Given the description of an element on the screen output the (x, y) to click on. 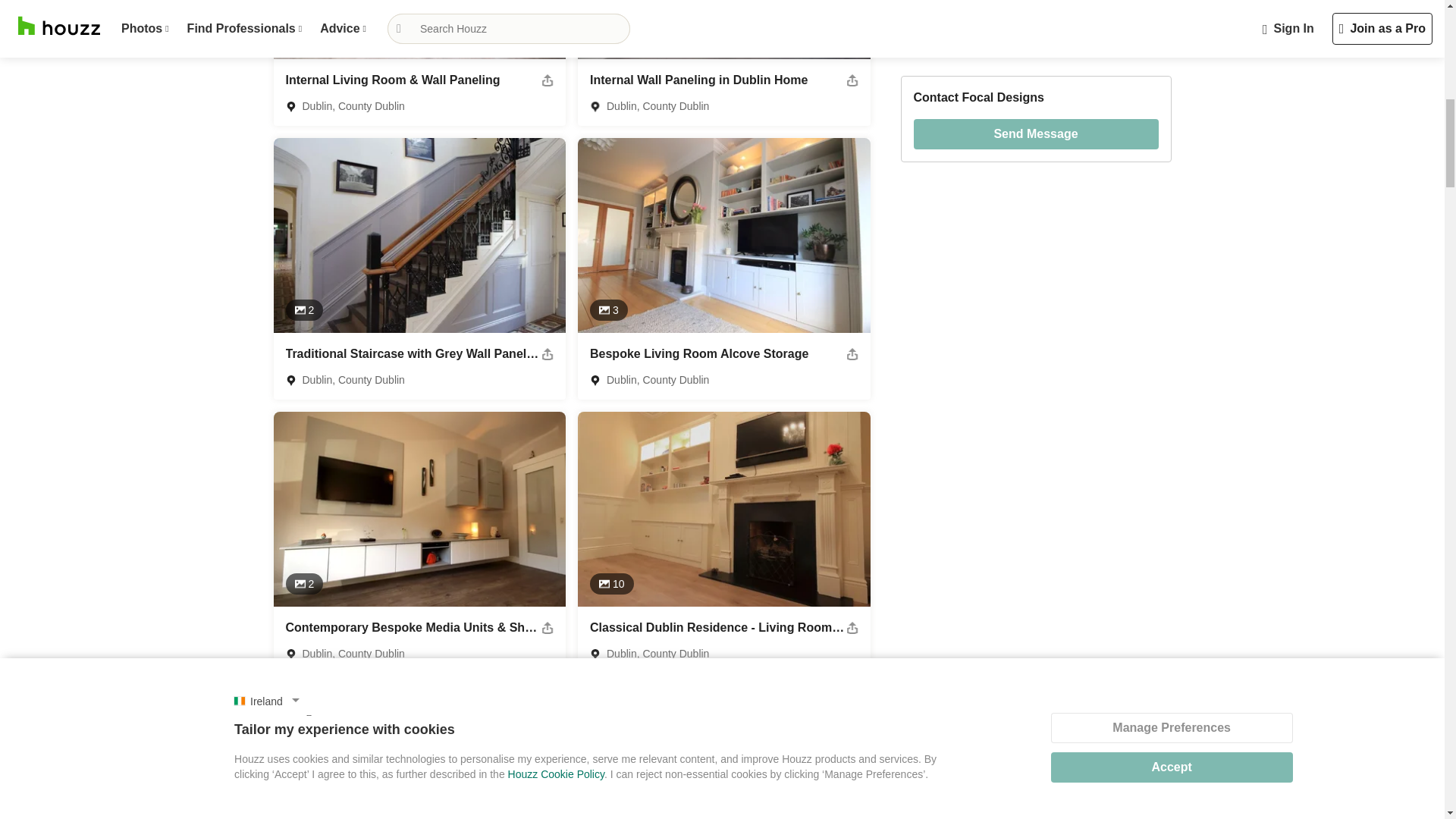
Internal Wall Paneling in Dublin Home (698, 80)
Share Project (547, 80)
Share Project (852, 80)
Share Project (547, 627)
Bespoke Living Room Alcove Storage (698, 353)
Share Project (547, 354)
Share Project (852, 354)
Traditional Staircase with Grey Wall Paneling (413, 353)
Share Project (852, 627)
